Given the description of an element on the screen output the (x, y) to click on. 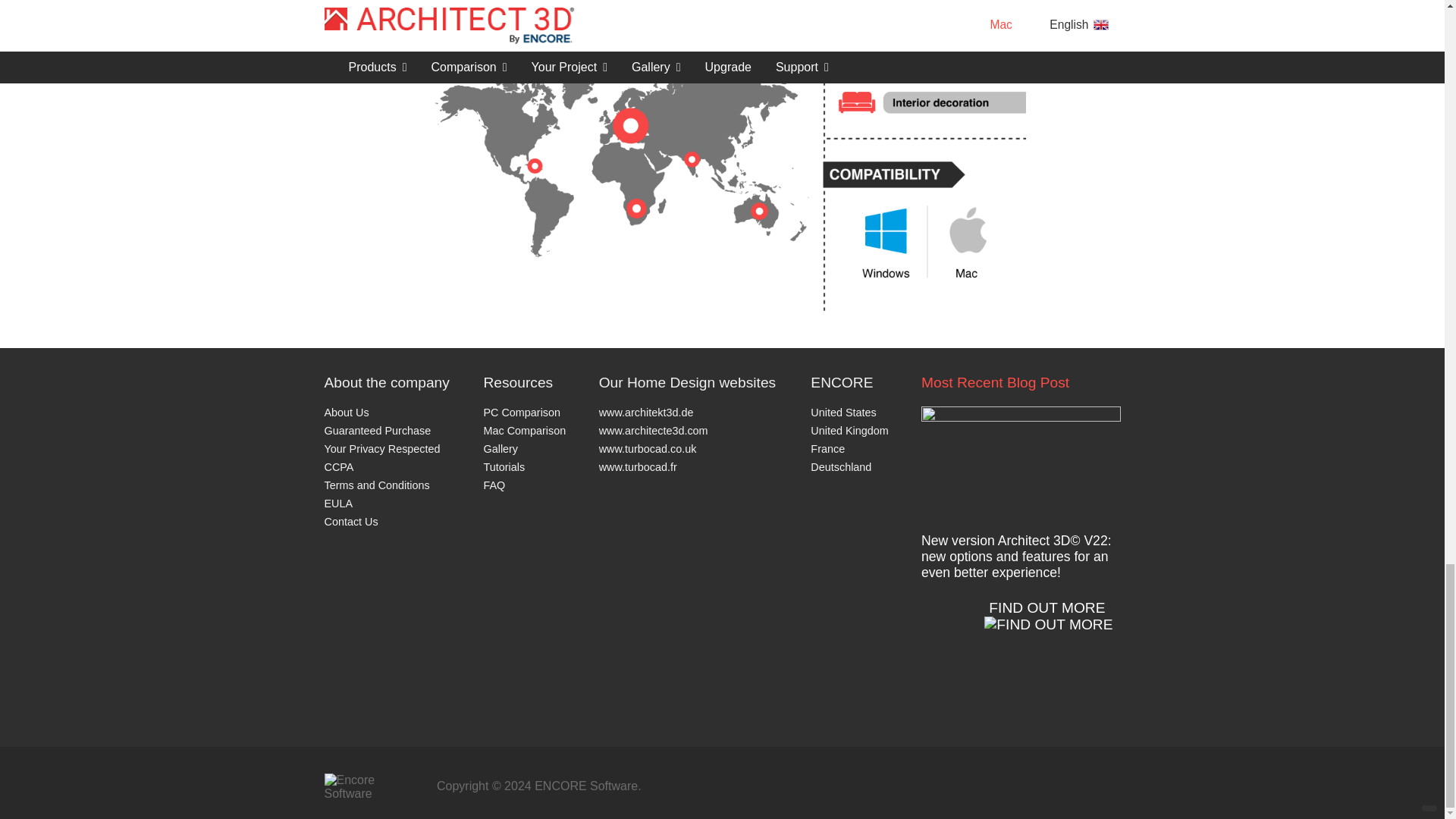
Resources (525, 382)
EULA (338, 503)
About Us (346, 412)
Your Privacy Respected (382, 449)
CCPA (338, 467)
Contact Us (351, 521)
Terms and Conditions (376, 485)
About the company (388, 382)
Guaranteed Purchase (377, 430)
